Given the description of an element on the screen output the (x, y) to click on. 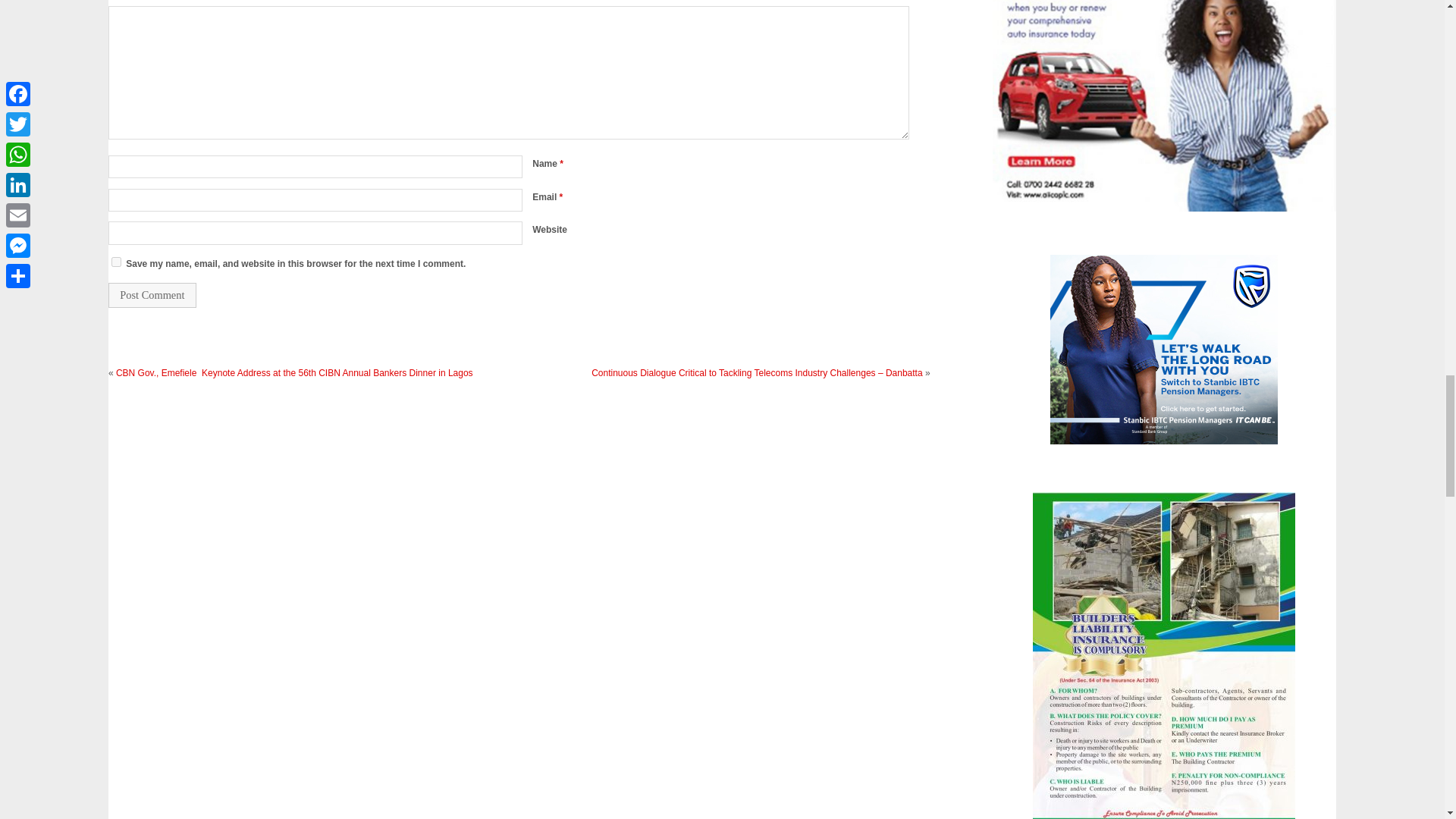
yes (116, 261)
Post Comment (151, 294)
